Given the description of an element on the screen output the (x, y) to click on. 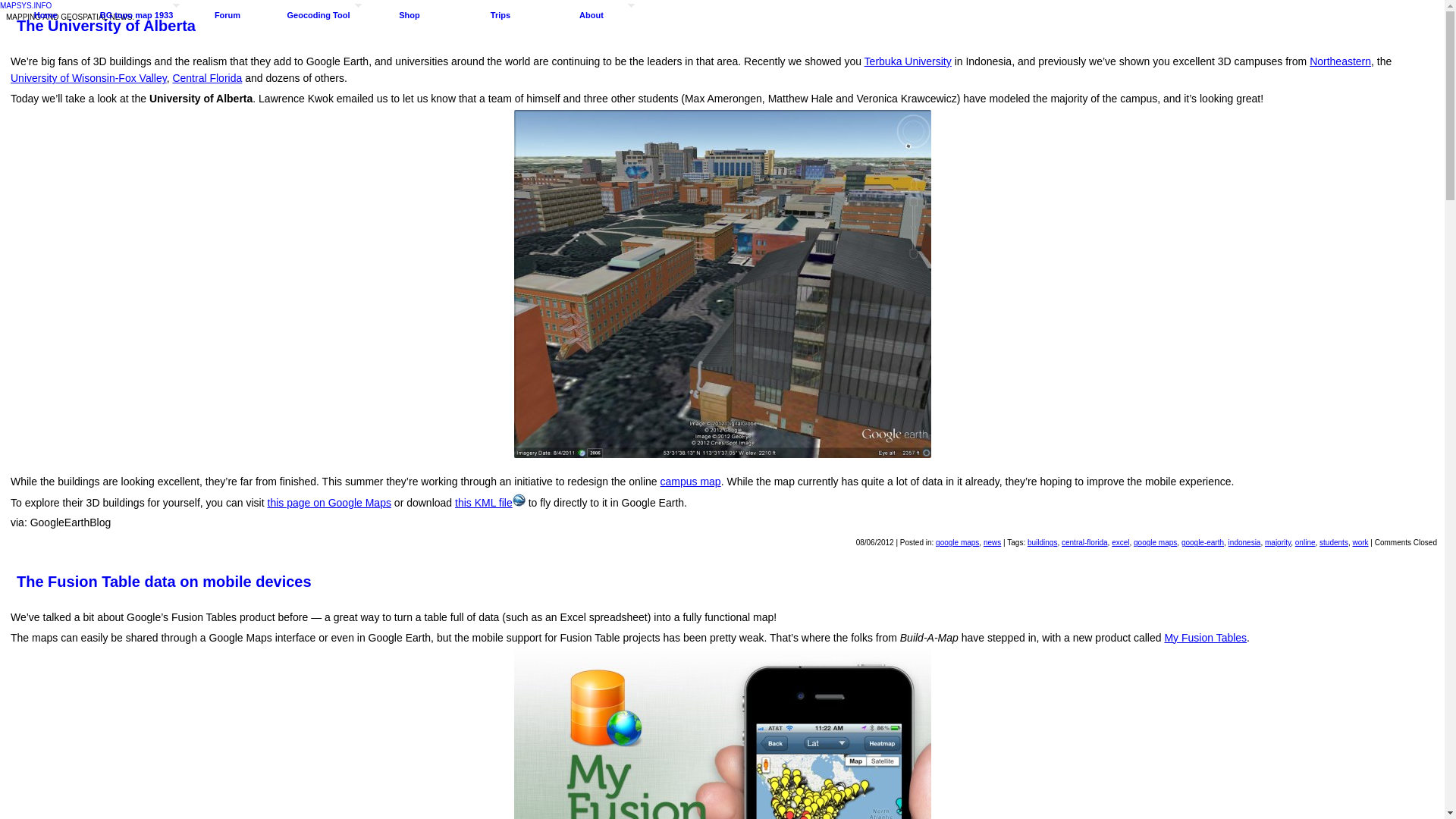
indonesia (1244, 542)
campus map (690, 481)
Geocoding Tool (318, 15)
Shop (409, 15)
The Fusion Table data on mobile devices (722, 581)
work (1360, 542)
online (1305, 542)
google-earth (1202, 542)
google maps (957, 542)
central-florida (1084, 542)
